Given the description of an element on the screen output the (x, y) to click on. 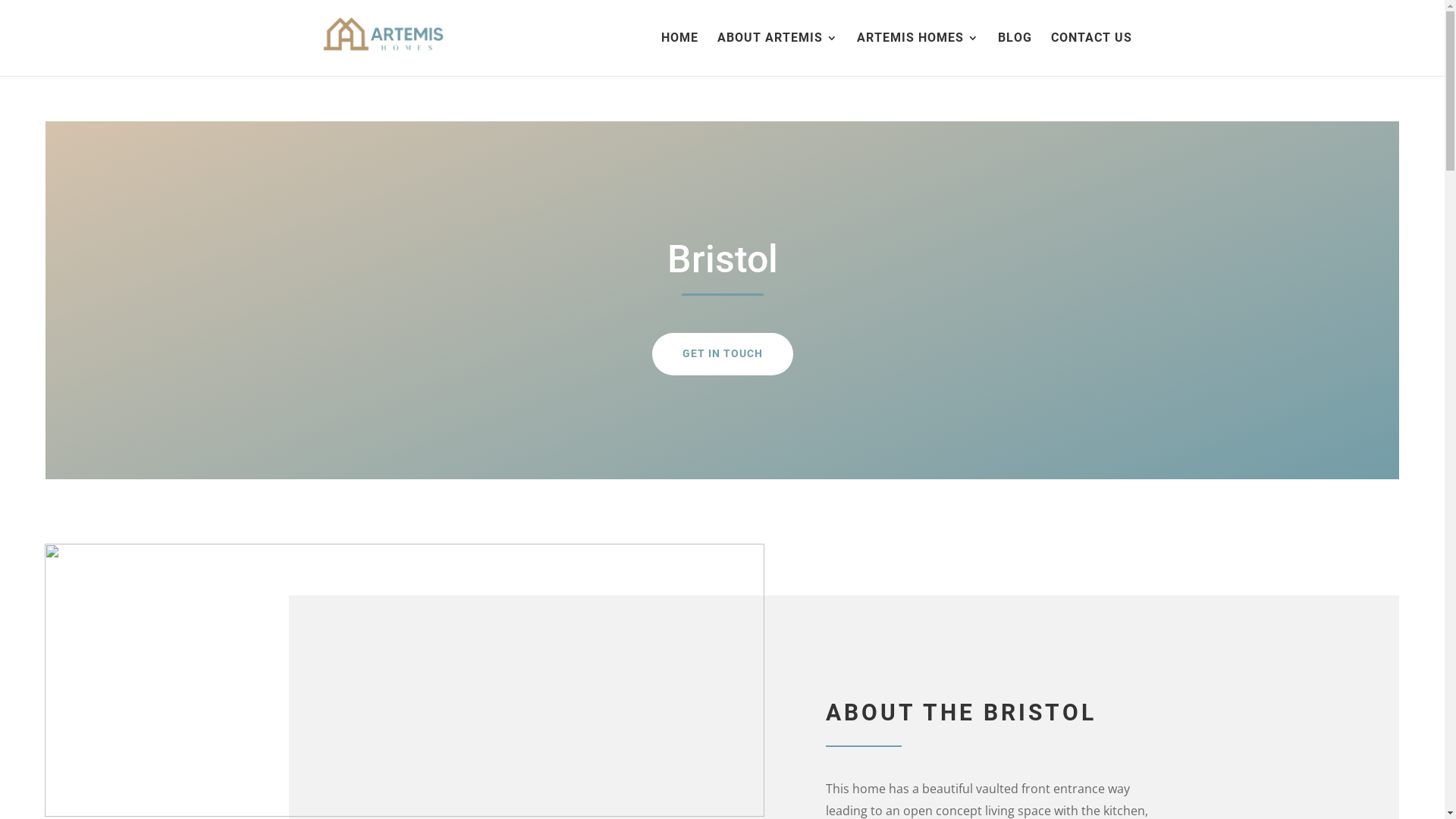
BLOG Element type: text (1014, 53)
ARTEMIS HOMES Element type: text (917, 53)
GET IN TOUCH Element type: text (722, 353)
CONTACT US Element type: text (1091, 53)
HOME Element type: text (679, 53)
ABOUT ARTEMIS Element type: text (777, 53)
